Given the description of an element on the screen output the (x, y) to click on. 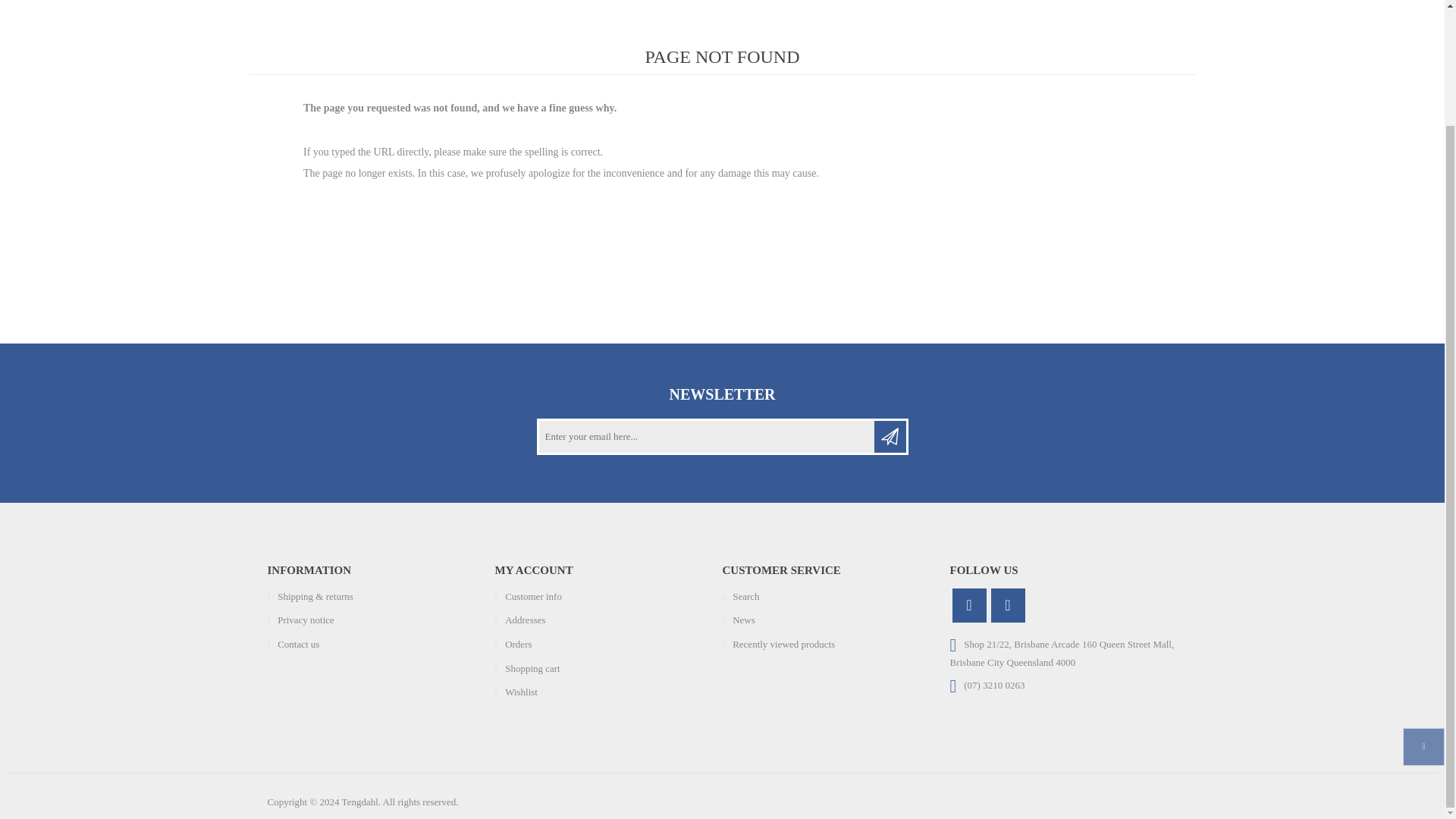
Shopping cart (532, 668)
News (743, 619)
Customer info (533, 595)
Addresses (524, 619)
Search (745, 595)
Subscribe (889, 436)
Privacy notice (306, 619)
Orders (518, 644)
Wishlist (521, 691)
Contact us (298, 644)
